Given the description of an element on the screen output the (x, y) to click on. 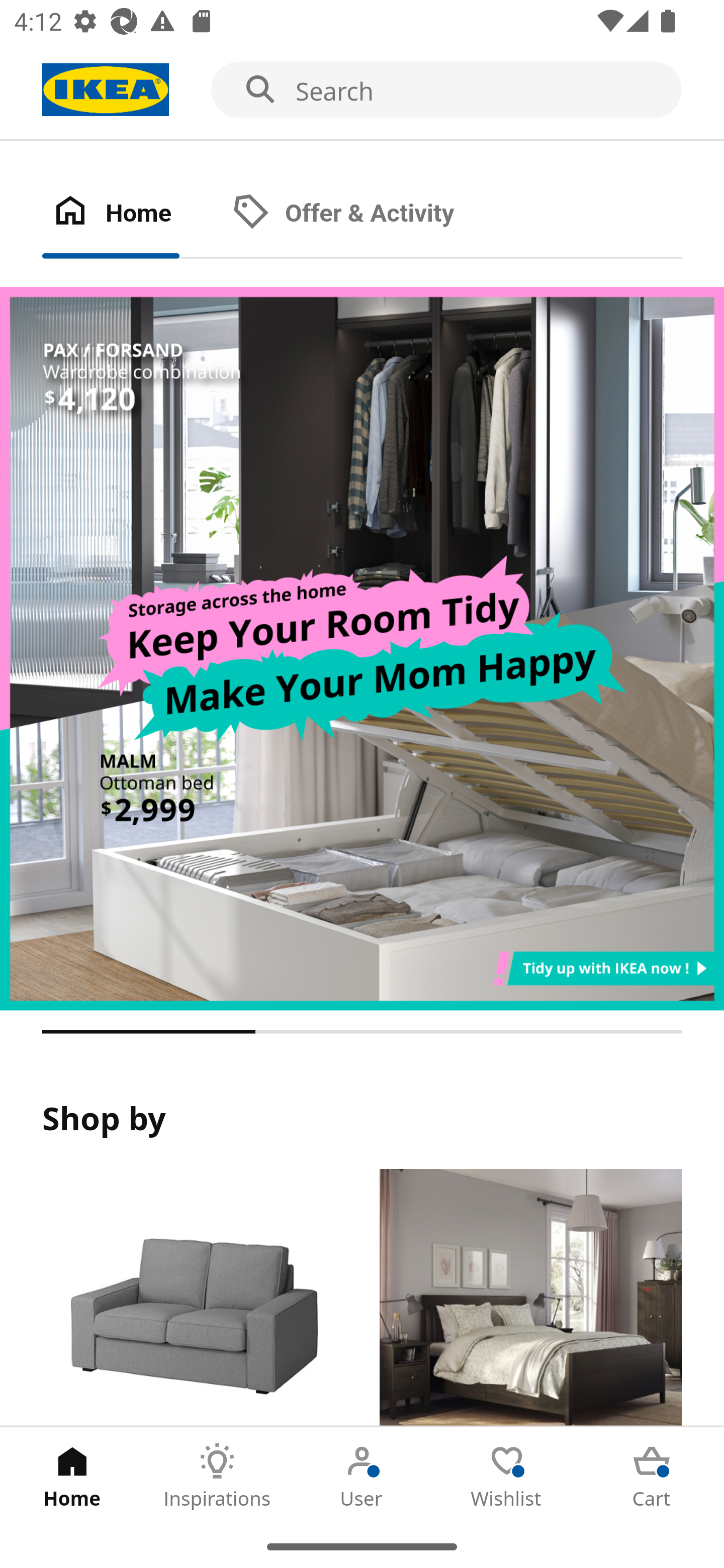
Search (361, 90)
Home
Tab 1 of 2 (131, 213)
Offer & Activity
Tab 2 of 2 (363, 213)
Products (192, 1297)
Rooms (530, 1297)
Home
Tab 1 of 5 (72, 1476)
Inspirations
Tab 2 of 5 (216, 1476)
User
Tab 3 of 5 (361, 1476)
Wishlist
Tab 4 of 5 (506, 1476)
Cart
Tab 5 of 5 (651, 1476)
